Given the description of an element on the screen output the (x, y) to click on. 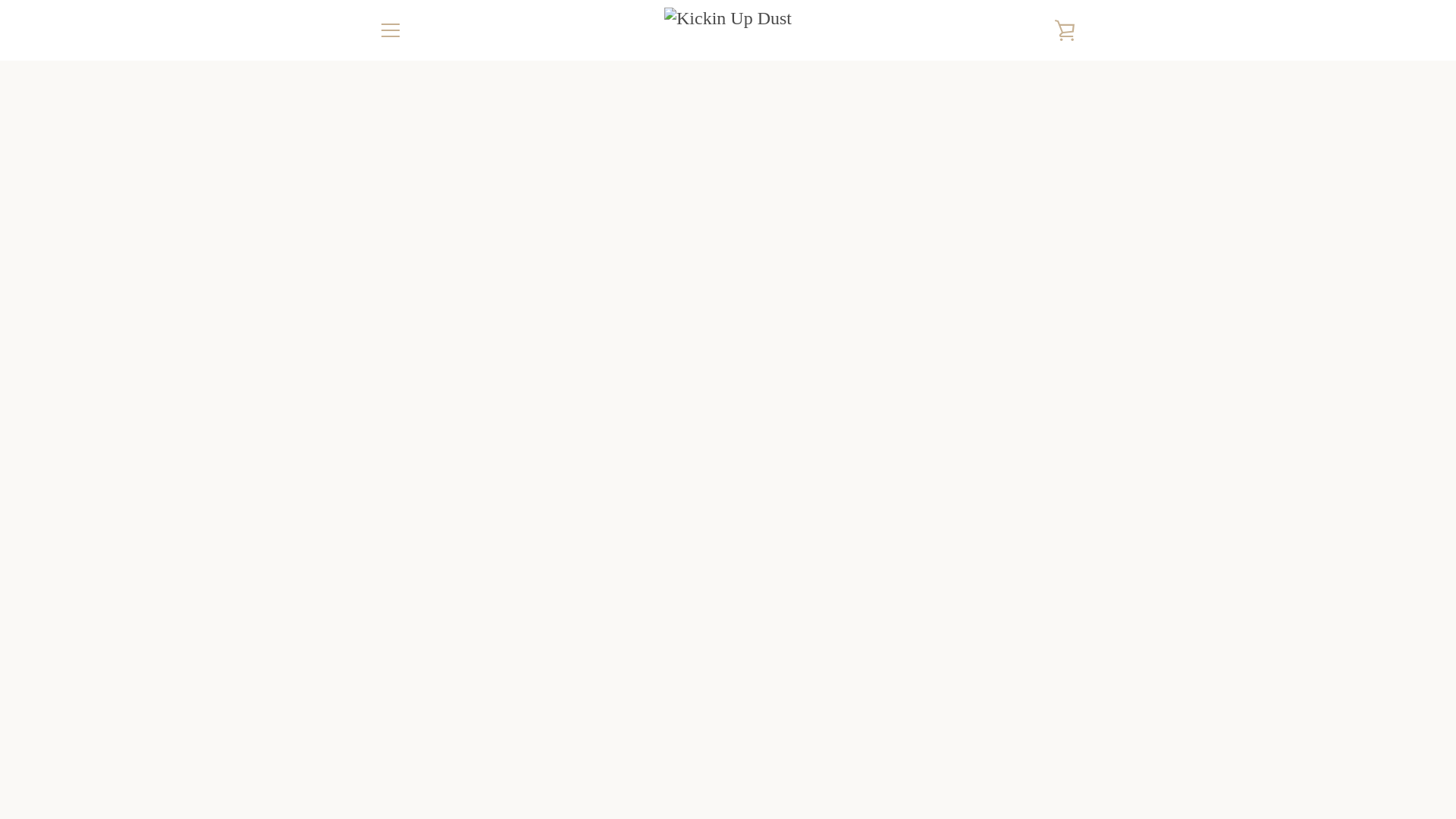
MENU (390, 30)
VIEW CART (1065, 30)
